Given the description of an element on the screen output the (x, y) to click on. 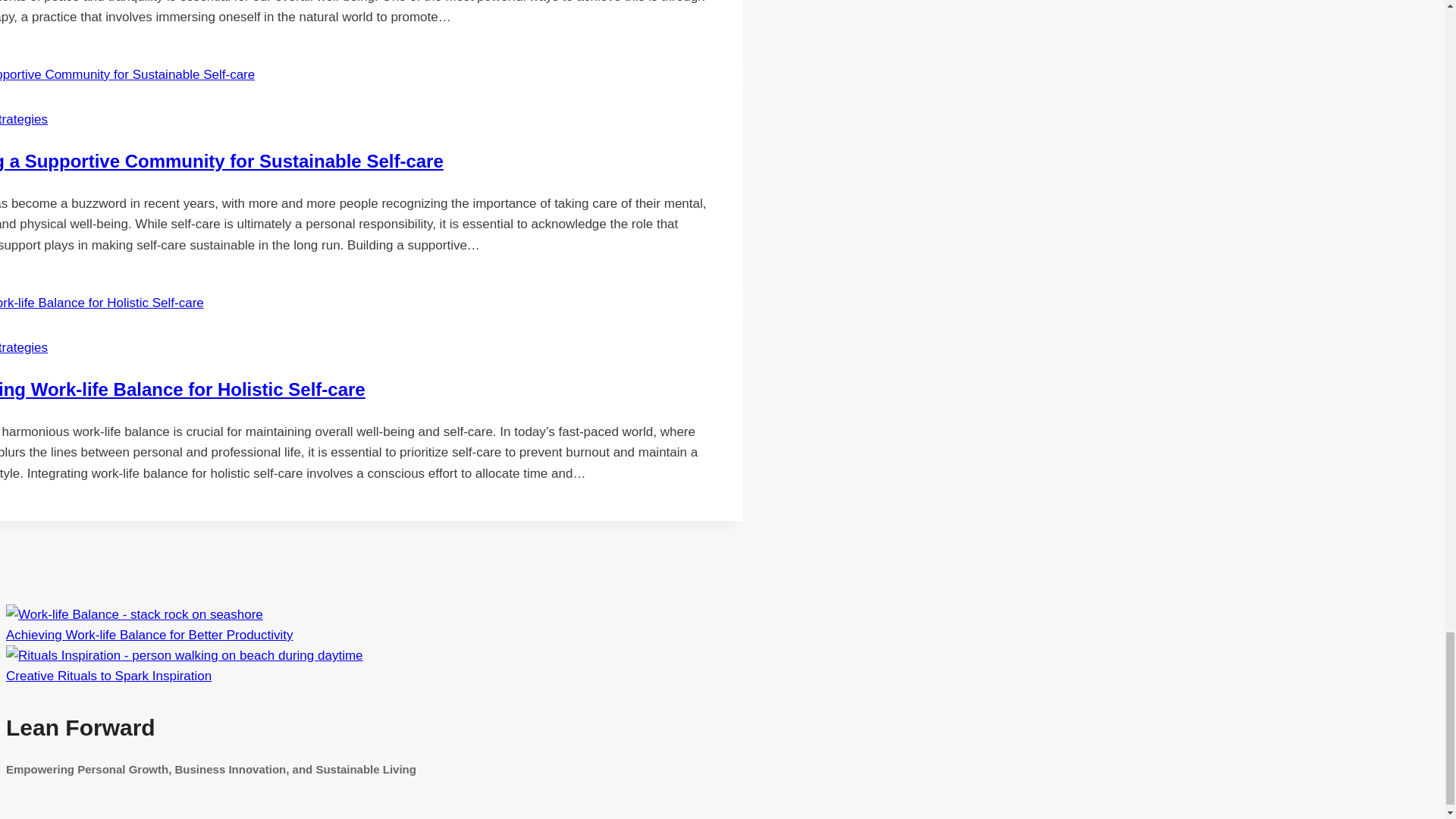
Building a Supportive Community for Sustainable Self-care (222, 160)
Achieving Work-life Balance for Better Productivity (149, 635)
Self-Care Strategies (24, 119)
Integrating Work-life Balance for Holistic Self-care (182, 389)
Creative Rituals to Spark Inspiration (183, 655)
Achieving Work-life Balance for Better Productivity (134, 614)
Creative Rituals to Spark Inspiration (108, 676)
Self-Care Strategies (24, 347)
